Given the description of an element on the screen output the (x, y) to click on. 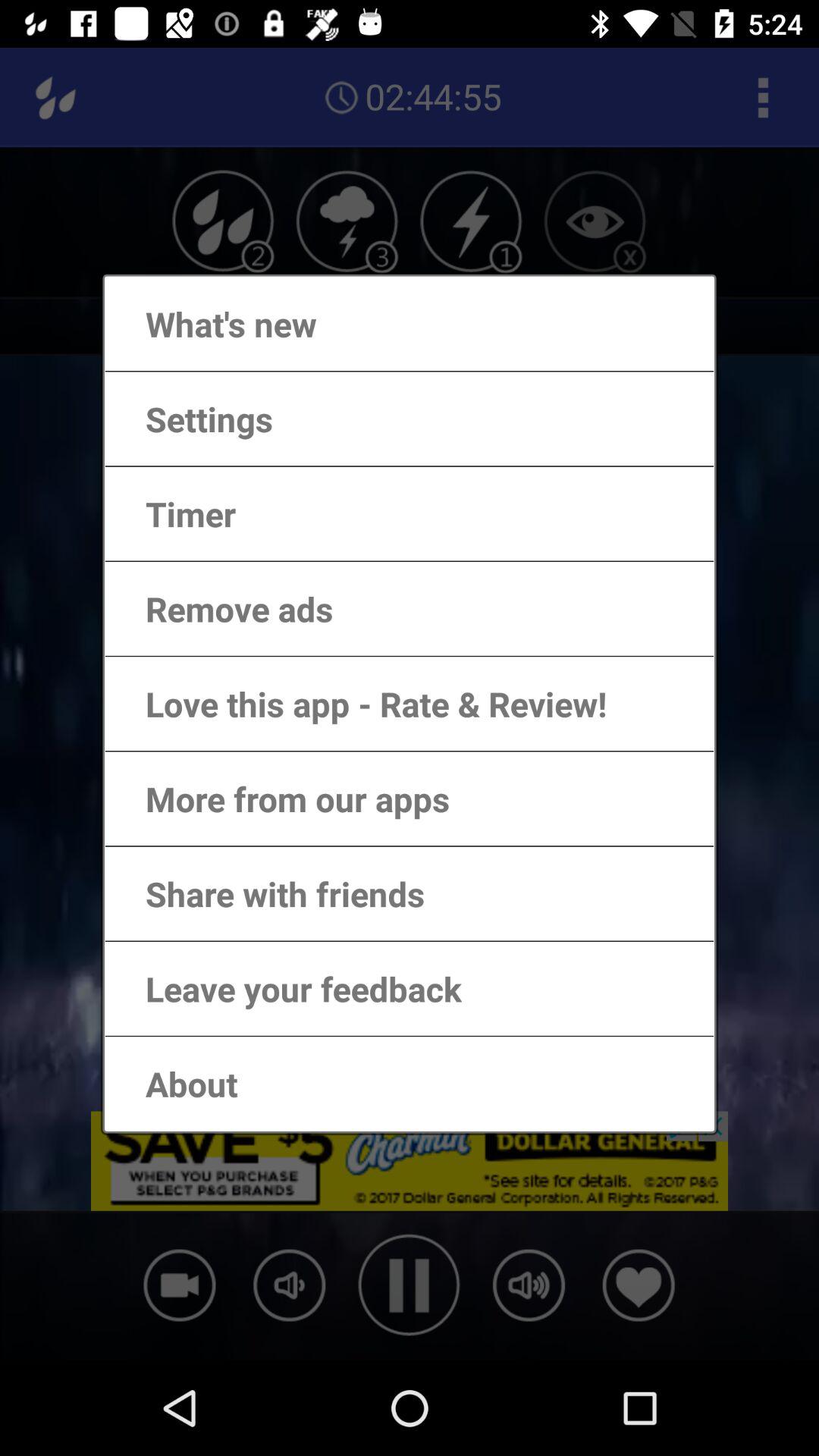
launch the app below the leave your feedback icon (176, 1083)
